Given the description of an element on the screen output the (x, y) to click on. 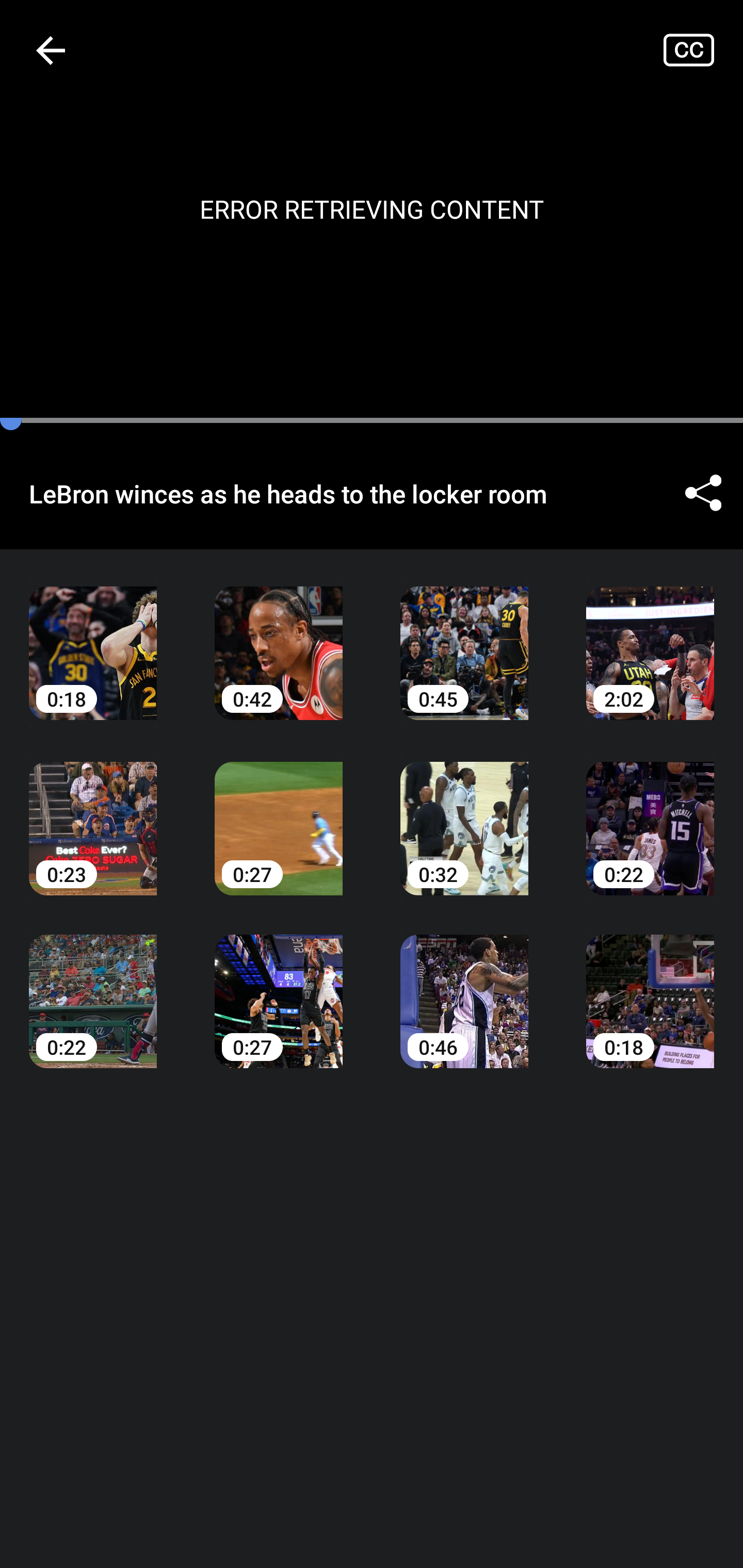
Navigate up (50, 50)
Closed captions  (703, 49)
Share © (703, 493)
0:18 (92, 637)
0:42 (278, 637)
0:45 (464, 637)
2:02 (650, 637)
0:23 (92, 813)
0:27 (278, 813)
0:32 (464, 813)
0:22 (650, 813)
0:22 (92, 987)
0:27 (278, 987)
0:46 (464, 987)
0:18 (650, 987)
